Given the description of an element on the screen output the (x, y) to click on. 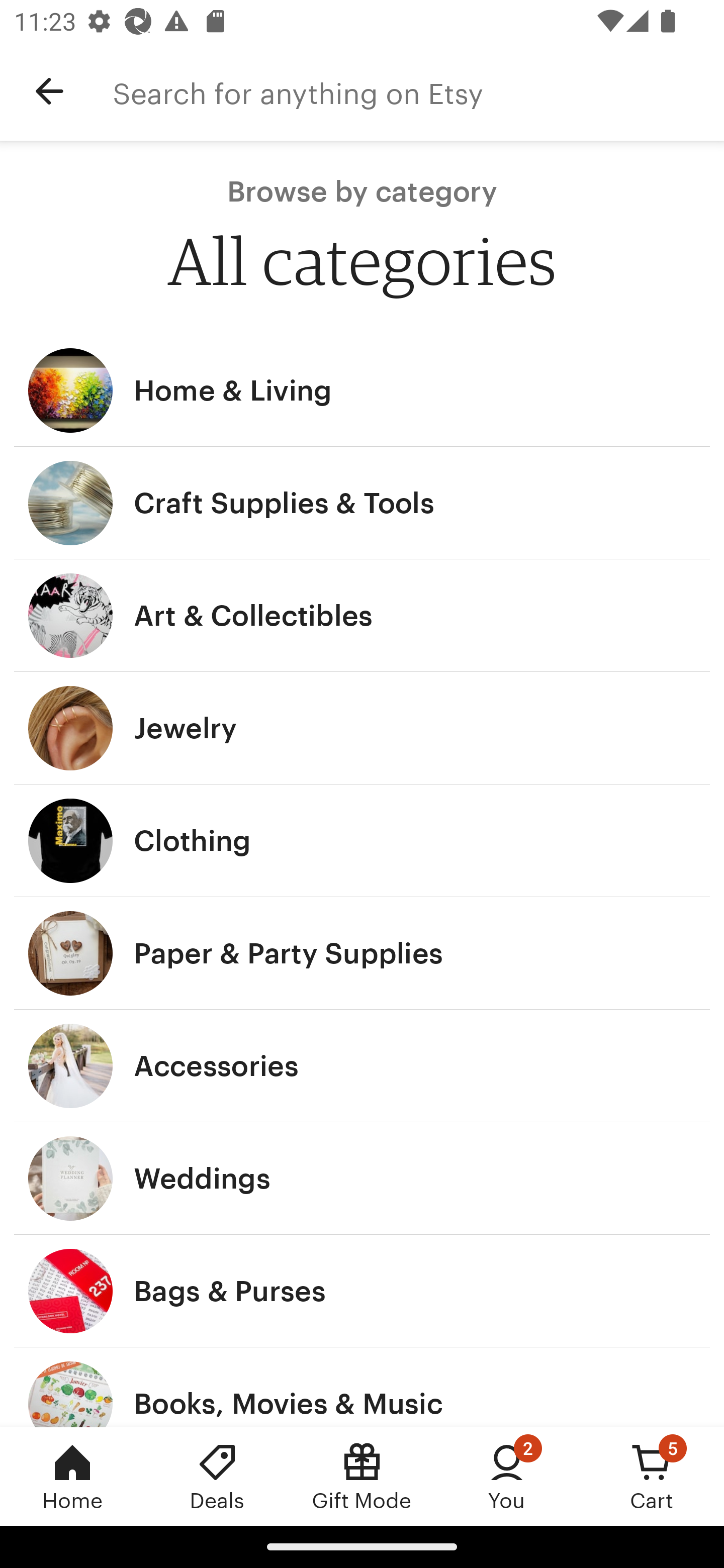
Navigate up (49, 91)
Search for anything on Etsy (418, 91)
Home & Living (361, 389)
Craft Supplies & Tools (361, 502)
Art & Collectibles (361, 615)
Jewelry (361, 728)
Clothing (361, 840)
Paper & Party Supplies (361, 952)
Accessories (361, 1065)
Weddings (361, 1178)
Bags & Purses (361, 1290)
Books, Movies & Music (361, 1386)
Deals (216, 1475)
Gift Mode (361, 1475)
You, 2 new notifications You (506, 1475)
Cart, 5 new notifications Cart (651, 1475)
